Given the description of an element on the screen output the (x, y) to click on. 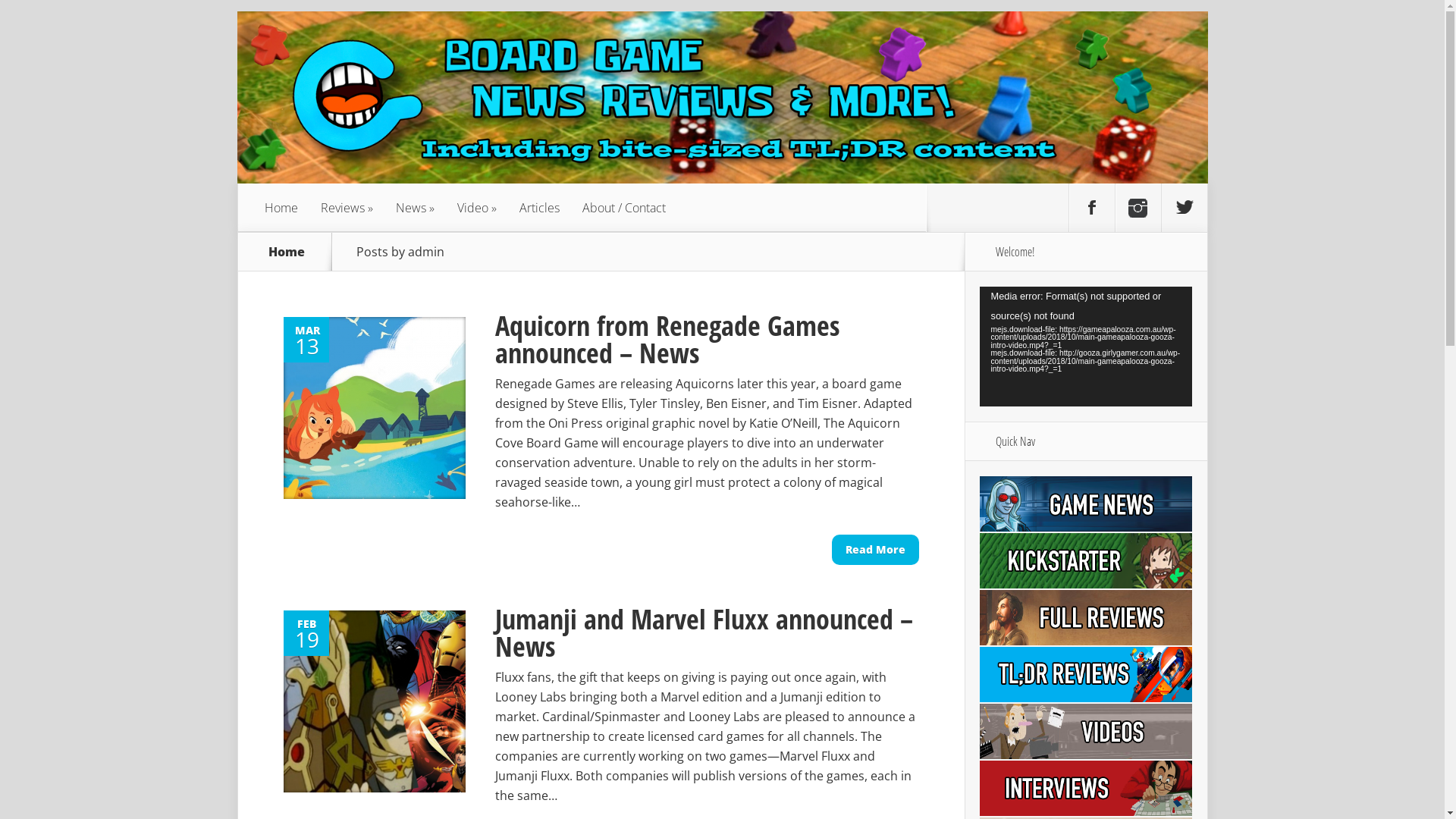
Reviews Element type: text (346, 207)
Video Element type: text (476, 207)
Home Element type: text (286, 251)
Home Element type: text (281, 207)
News Element type: text (414, 207)
Follow us on Twitter Element type: text (1184, 207)
About / Contact Element type: text (623, 207)
Follow us on Facebook Element type: text (1091, 207)
Read More Element type: text (874, 549)
Follow Us On Instagram Element type: text (1137, 207)
Articles Element type: text (539, 207)
